Given the description of an element on the screen output the (x, y) to click on. 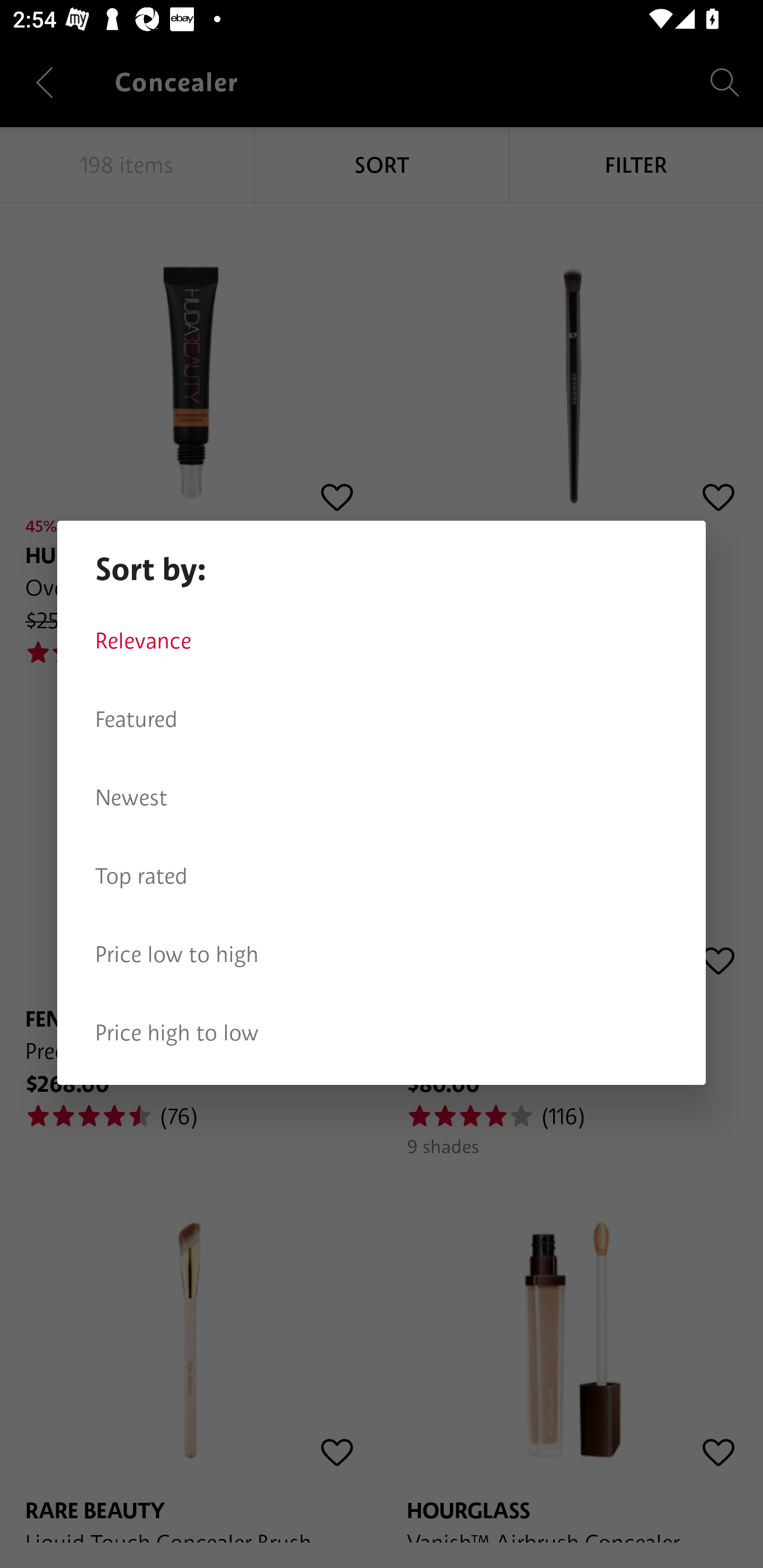
Relevance (381, 641)
Featured (381, 719)
Newest (381, 797)
Top rated (381, 876)
Price low to high (381, 954)
Price high to low (381, 1033)
